Given the description of an element on the screen output the (x, y) to click on. 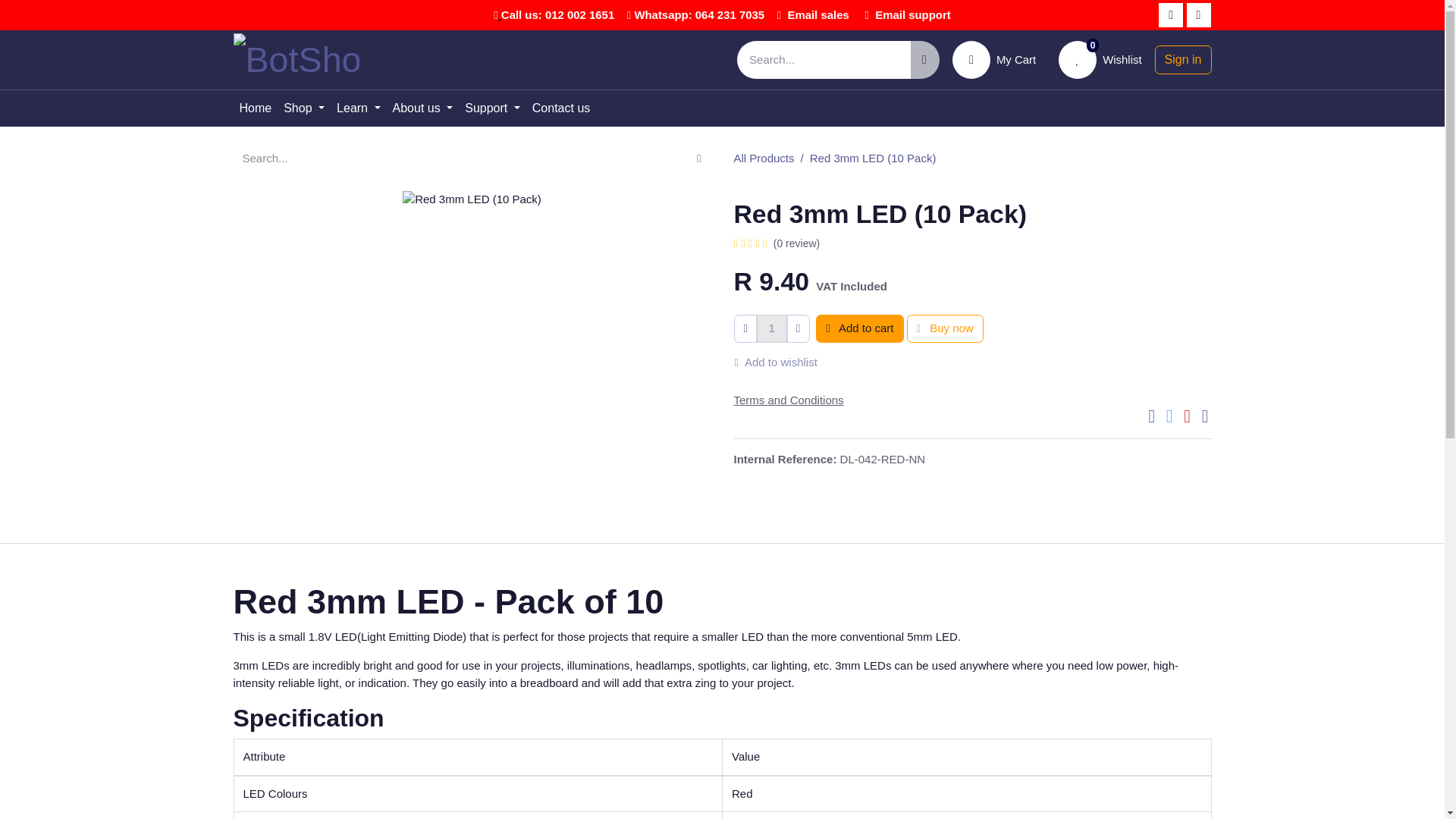
Sign in (1182, 59)
1 (771, 328)
Home (255, 108)
Whatsapp: 064 231 7035 (698, 14)
BotShop (295, 59)
Shop (1099, 60)
Call us: 012 002 1651 (304, 108)
Email support (557, 14)
Learn (912, 14)
My Cart (357, 108)
Email sales (993, 60)
About us (817, 14)
